Given the description of an element on the screen output the (x, y) to click on. 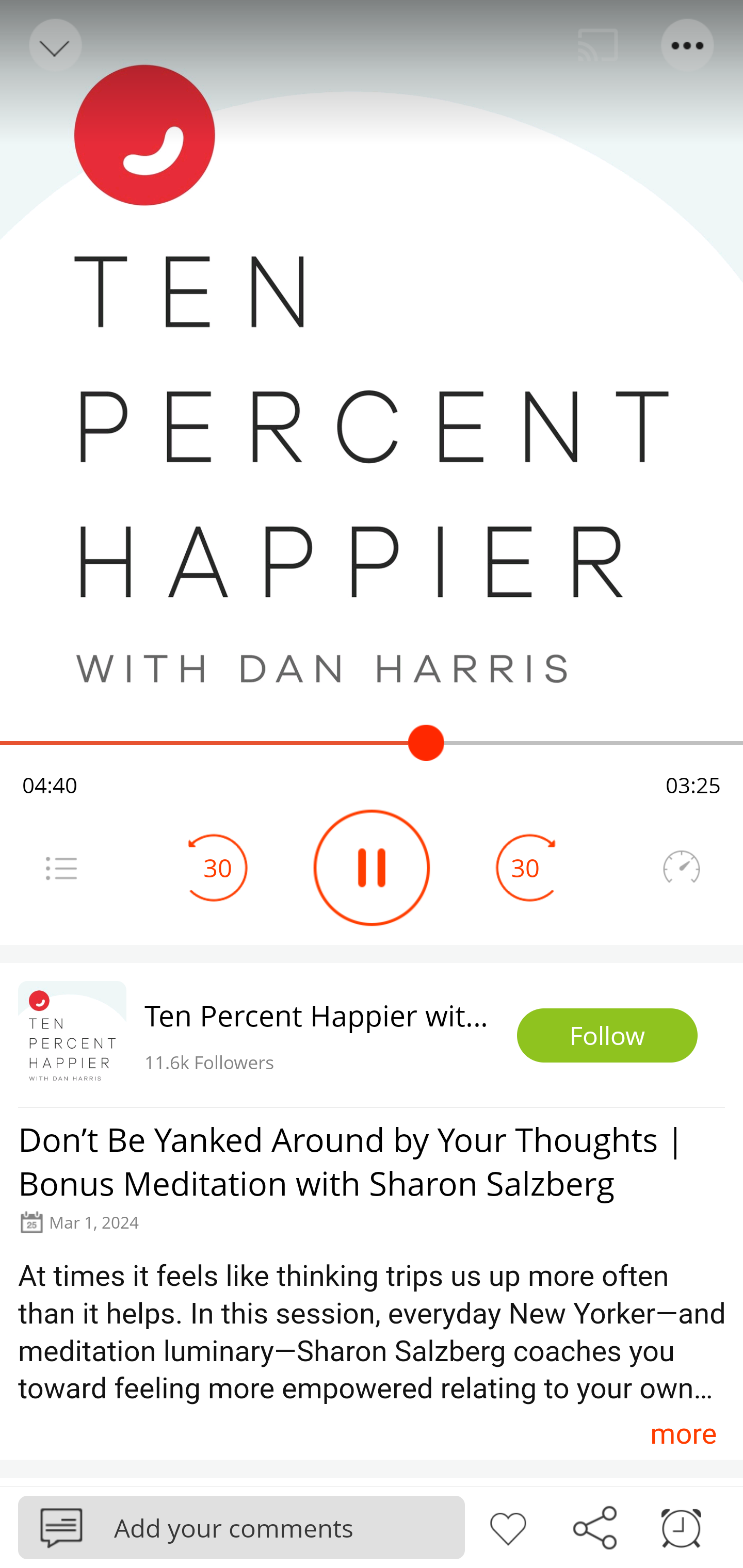
Back (53, 45)
Cast. Disconnected (597, 45)
Menu (688, 45)
Play (371, 867)
30 Seek Backward (217, 867)
30 Seek Forward (525, 867)
Menu (60, 867)
Speedometer (681, 867)
Follow (607, 1035)
more (682, 1432)
Like (508, 1526)
Share (594, 1526)
Sleep timer (681, 1526)
Podbean Add your comments (241, 1526)
